Given the description of an element on the screen output the (x, y) to click on. 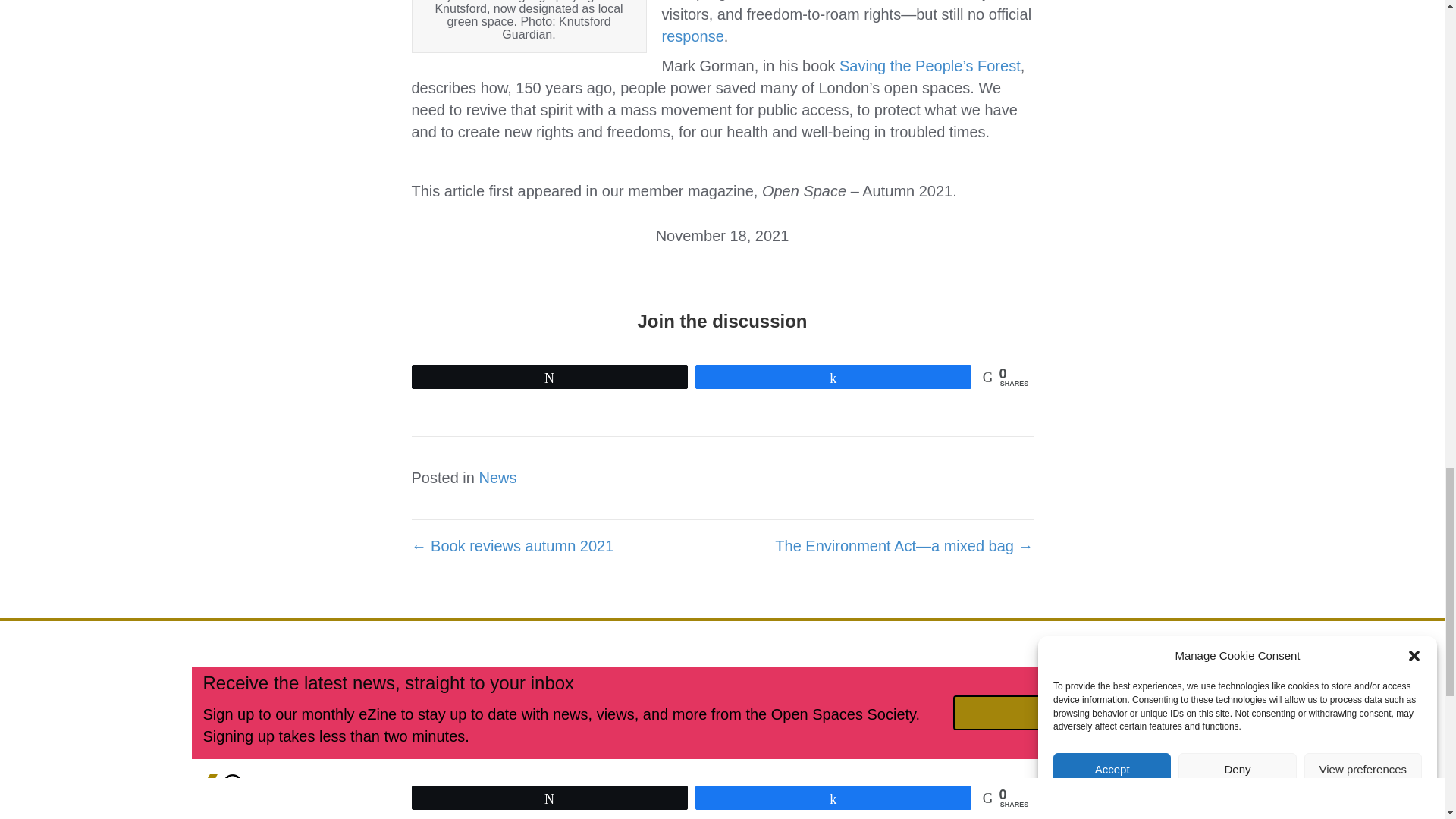
oss-logo (247, 796)
